Given the description of an element on the screen output the (x, y) to click on. 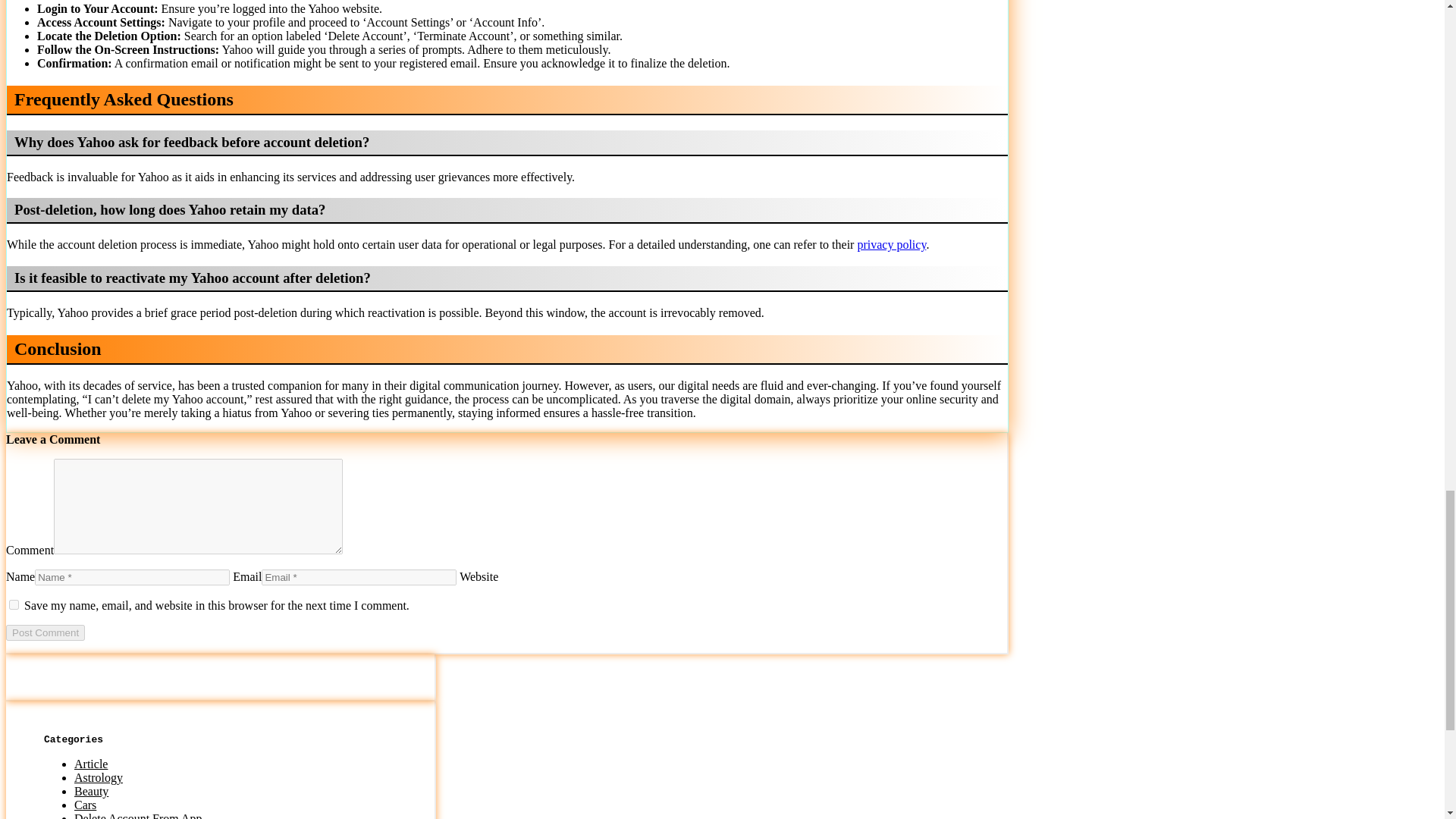
Cars (85, 804)
privacy policy (891, 244)
Astrology (98, 777)
Post Comment (44, 632)
Post Comment (44, 632)
Beauty (90, 790)
Article (90, 763)
Delete Account From App (138, 815)
yes (13, 604)
